Given the description of an element on the screen output the (x, y) to click on. 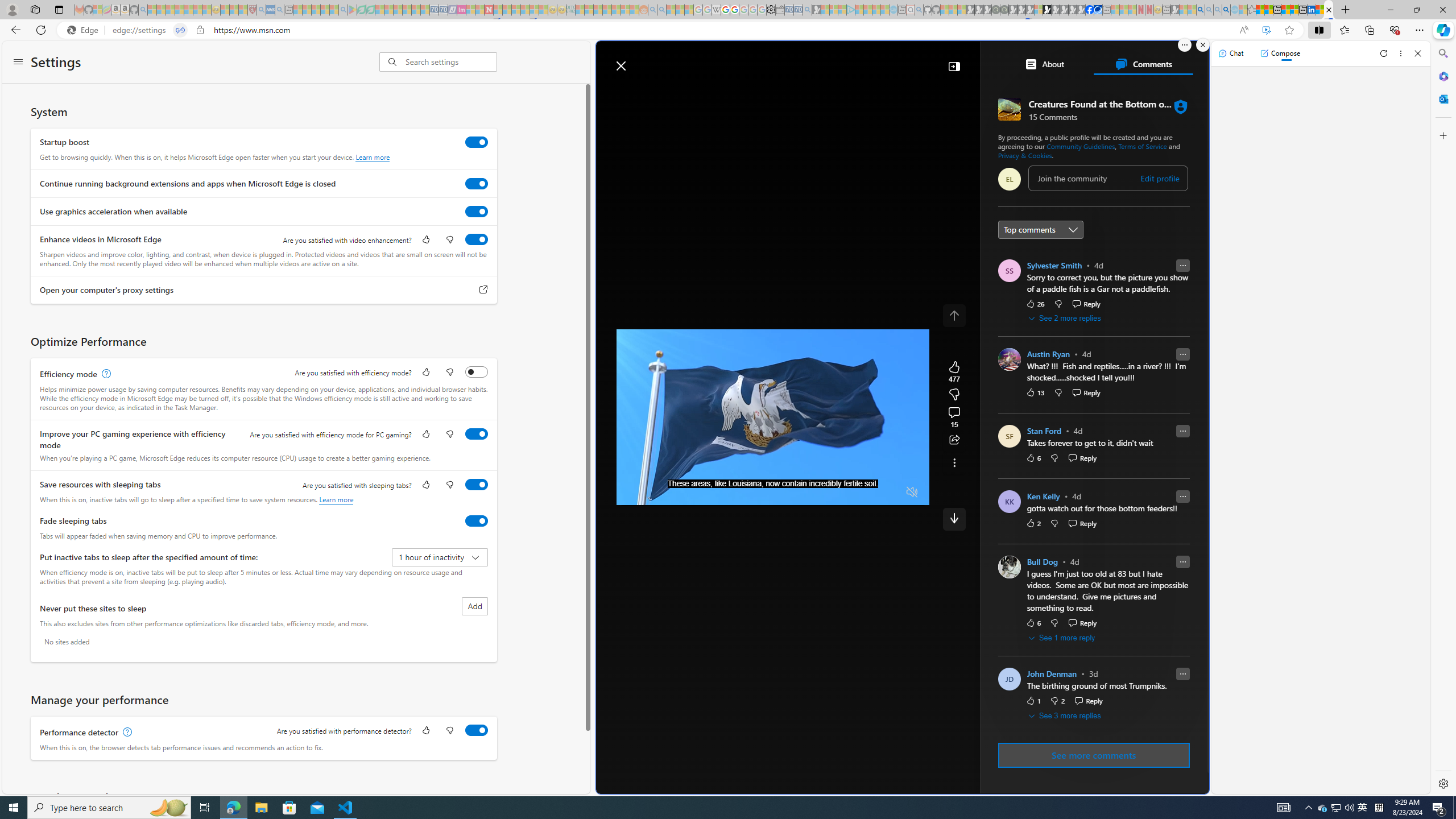
AutomationID: e5rZOEMGacU1 (954, 518)
Jobs - lastminute.com Investor Portal - Sleeping (461, 9)
Settings menu (18, 62)
Performance detector (476, 730)
